Given the description of an element on the screen output the (x, y) to click on. 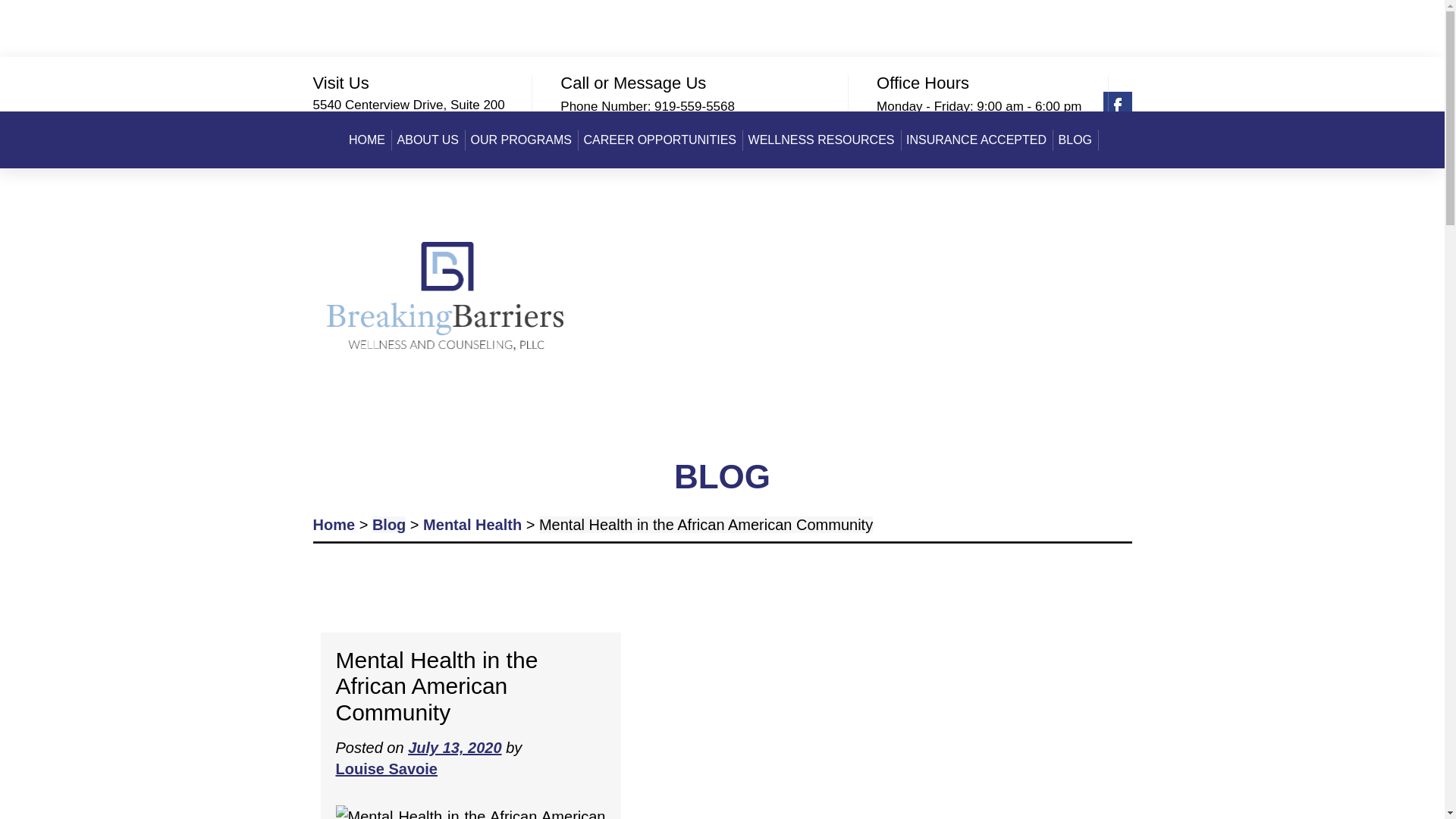
Mental Health (472, 524)
Home (334, 524)
INSURANCE ACCEPTED (975, 139)
July 13, 2020 (453, 747)
Blog (389, 524)
Louise Savoie (386, 768)
View all posts by Louise Savoie (386, 768)
Go to Home. (334, 524)
WELLNESS RESOURCES (821, 139)
Go to Blog. (389, 524)
CAREER OPPORTUNITIES (659, 139)
OUR PROGRAMS (521, 139)
CONTACT US (721, 196)
Go to the Mental Health category archives. (472, 524)
ABOUT US (428, 139)
